Given the description of an element on the screen output the (x, y) to click on. 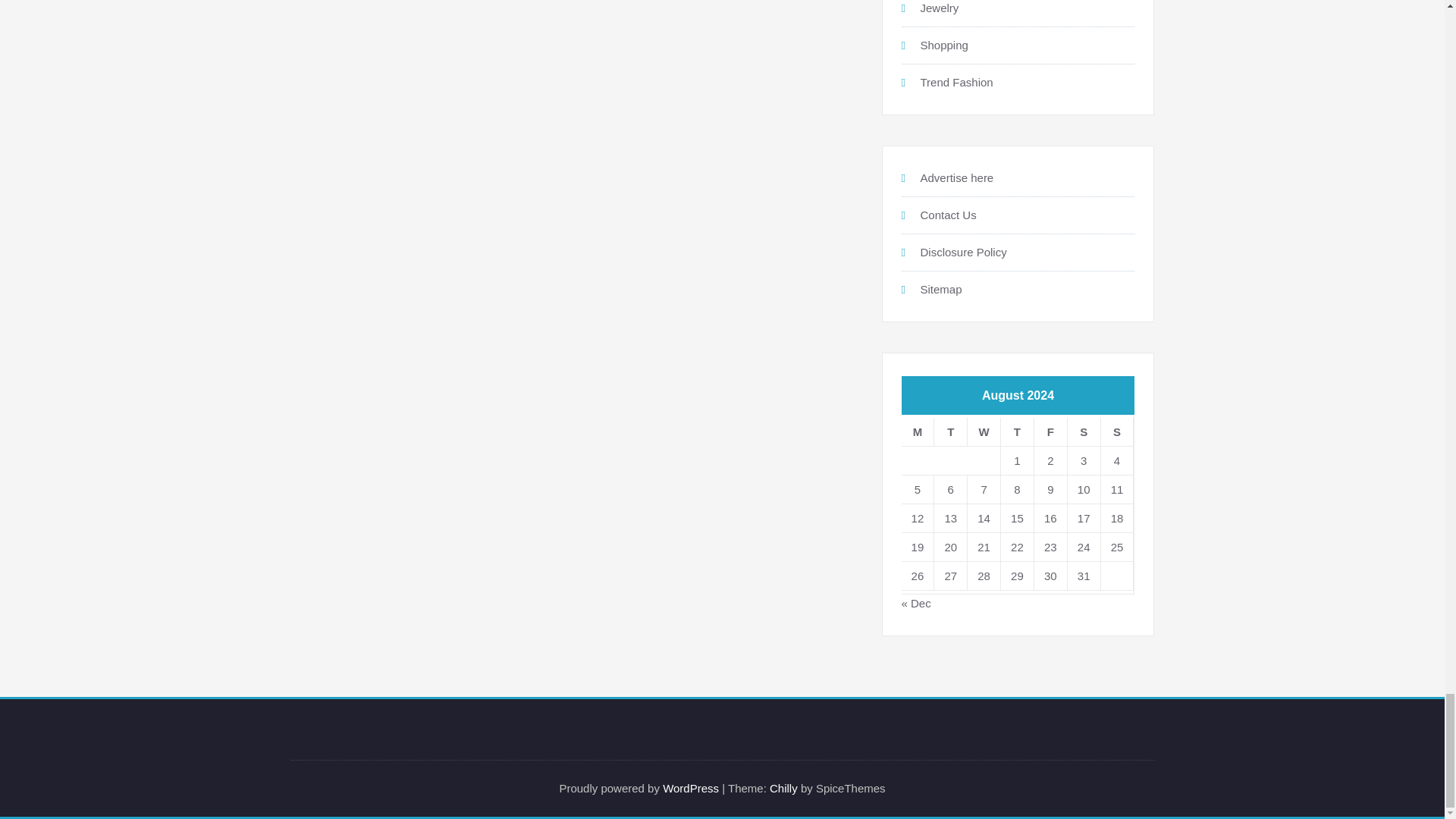
Wednesday (984, 431)
Saturday (1083, 431)
Thursday (1017, 431)
Friday (1050, 431)
Monday (917, 431)
Sunday (1117, 431)
Tuesday (951, 431)
